Given the description of an element on the screen output the (x, y) to click on. 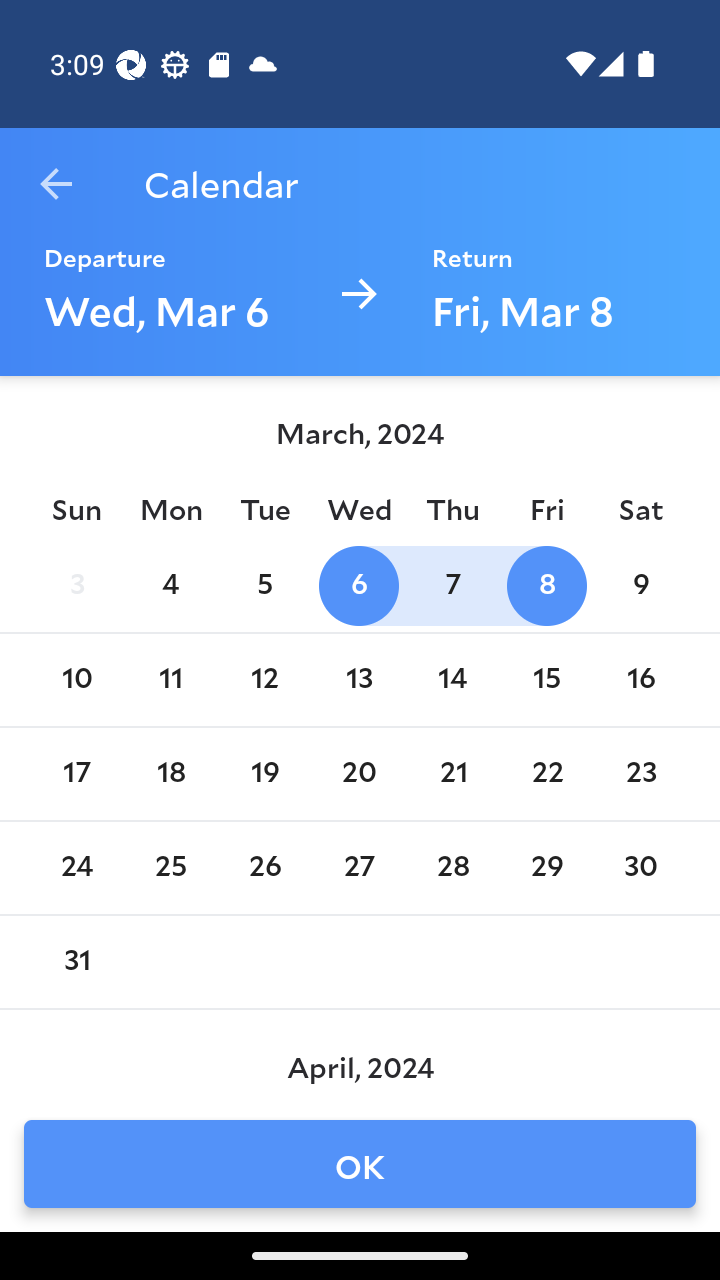
Navigate up (56, 184)
3 (76, 585)
4 (170, 585)
5 (264, 585)
6 (358, 585)
7 (453, 585)
8 (546, 585)
9 (641, 585)
10 (76, 679)
11 (170, 679)
12 (264, 679)
13 (358, 679)
14 (453, 679)
15 (546, 679)
16 (641, 679)
17 (76, 773)
18 (170, 773)
19 (264, 773)
20 (358, 773)
21 (453, 773)
22 (546, 773)
23 (641, 773)
24 (76, 867)
25 (170, 867)
26 (264, 867)
27 (358, 867)
28 (453, 867)
29 (546, 867)
30 (641, 867)
31 (76, 961)
OK (359, 1164)
